Given the description of an element on the screen output the (x, y) to click on. 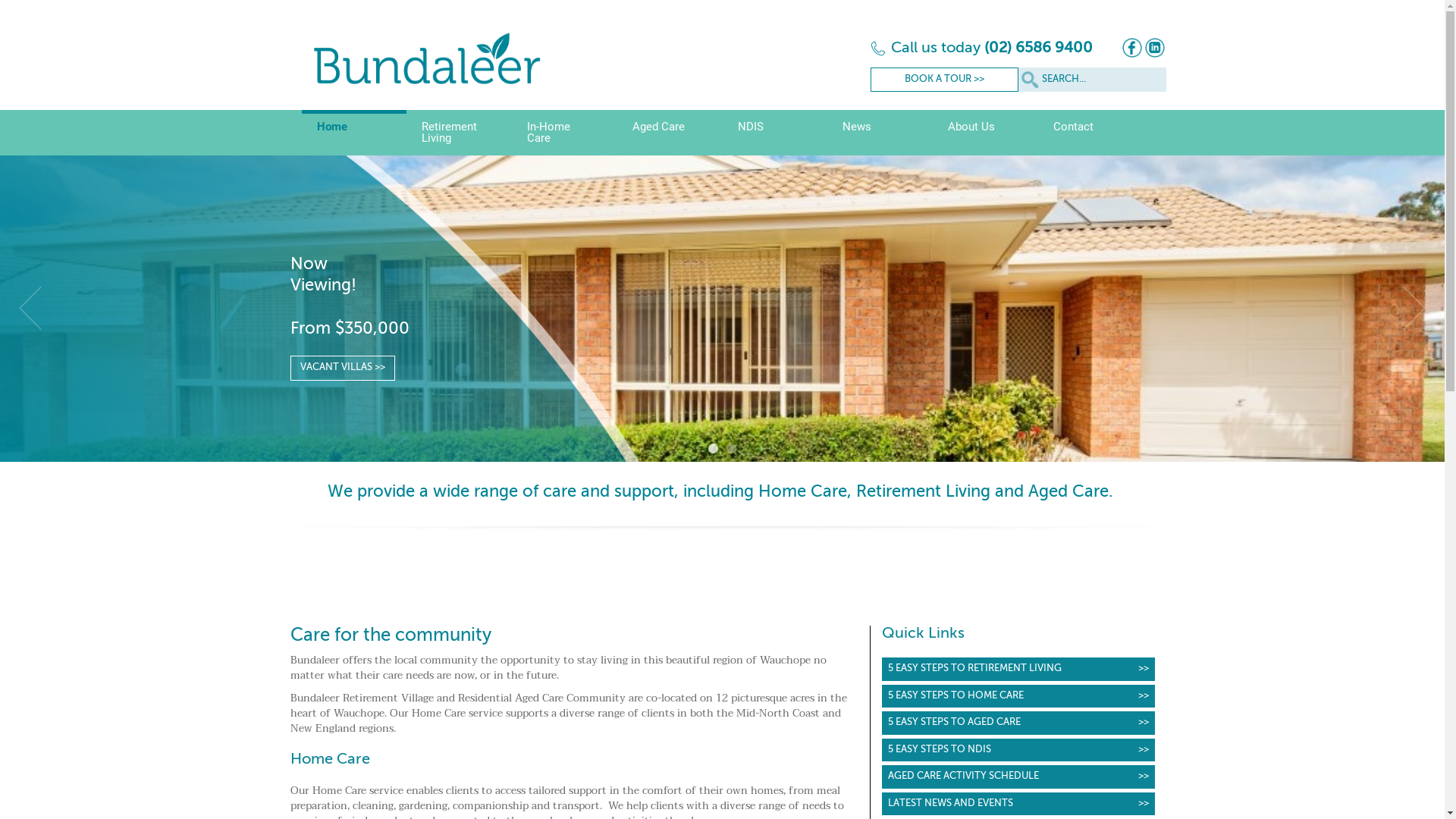
5 EASY STEPS TO RETIREMENT LIVING Element type: text (1017, 668)
In-Home
Care Element type: text (564, 132)
Call us today (02) 6586 9400 Element type: text (981, 48)
Previous Element type: text (29, 308)
5 EASY STEPS TO AGED CARE Element type: text (1017, 722)
Next Element type: text (1413, 308)
About Us Element type: text (985, 132)
5 EASY STEPS TO NDIS Element type: text (1017, 750)
1 Element type: text (712, 448)
Retirement
Living Element type: text (458, 132)
Contact Element type: text (1090, 132)
NDIS Element type: text (774, 132)
AGED CARE ACTIVITY SCHEDULE Element type: text (1017, 776)
Home Element type: text (354, 132)
Aged Care Element type: text (669, 132)
2 Element type: text (730, 448)
LATEST NEWS AND EVENTS Element type: text (1017, 803)
BOOK A TOUR >> Element type: text (944, 79)
5 EASY STEPS TO HOME CARE Element type: text (1017, 696)
News Element type: text (879, 132)
